Given the description of an element on the screen output the (x, y) to click on. 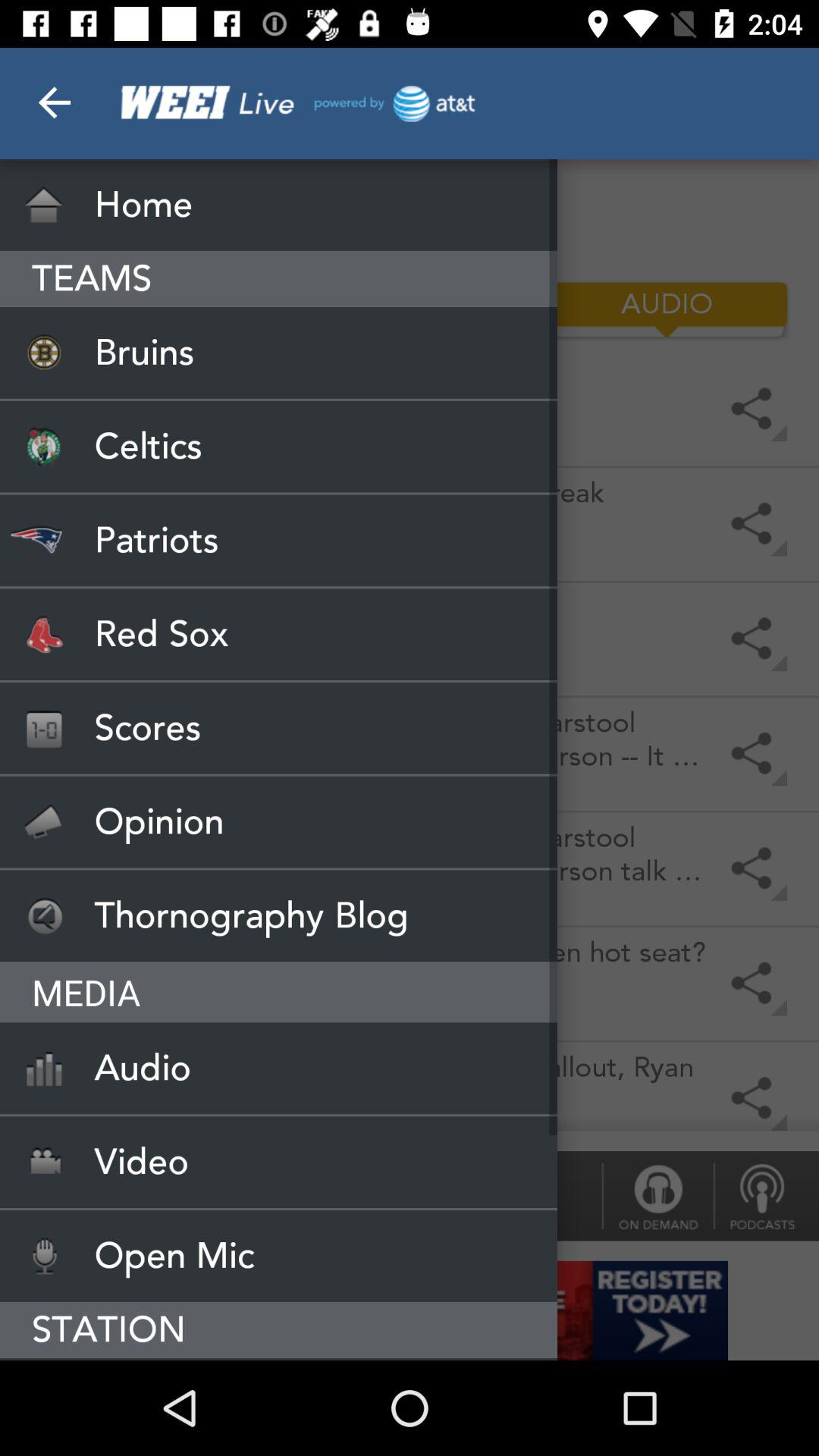
tap listen to weei icon (278, 1359)
